Given the description of an element on the screen output the (x, y) to click on. 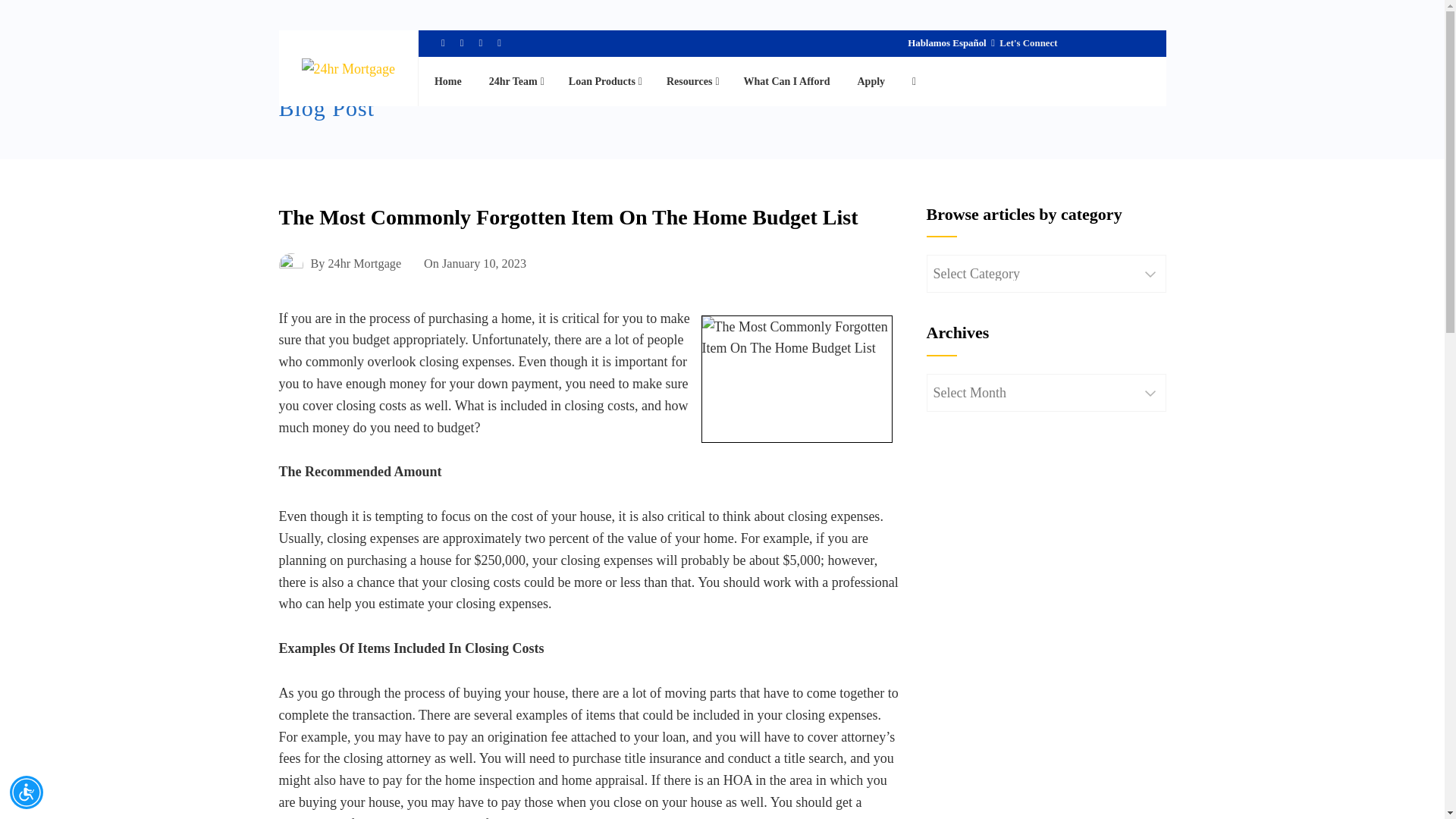
Home (448, 81)
  Let's Connect (1026, 42)
Accessibility Menu (26, 792)
What Can I Afford (786, 81)
Resources (691, 81)
Loan Products (603, 81)
24hr Team (515, 81)
